Given the description of an element on the screen output the (x, y) to click on. 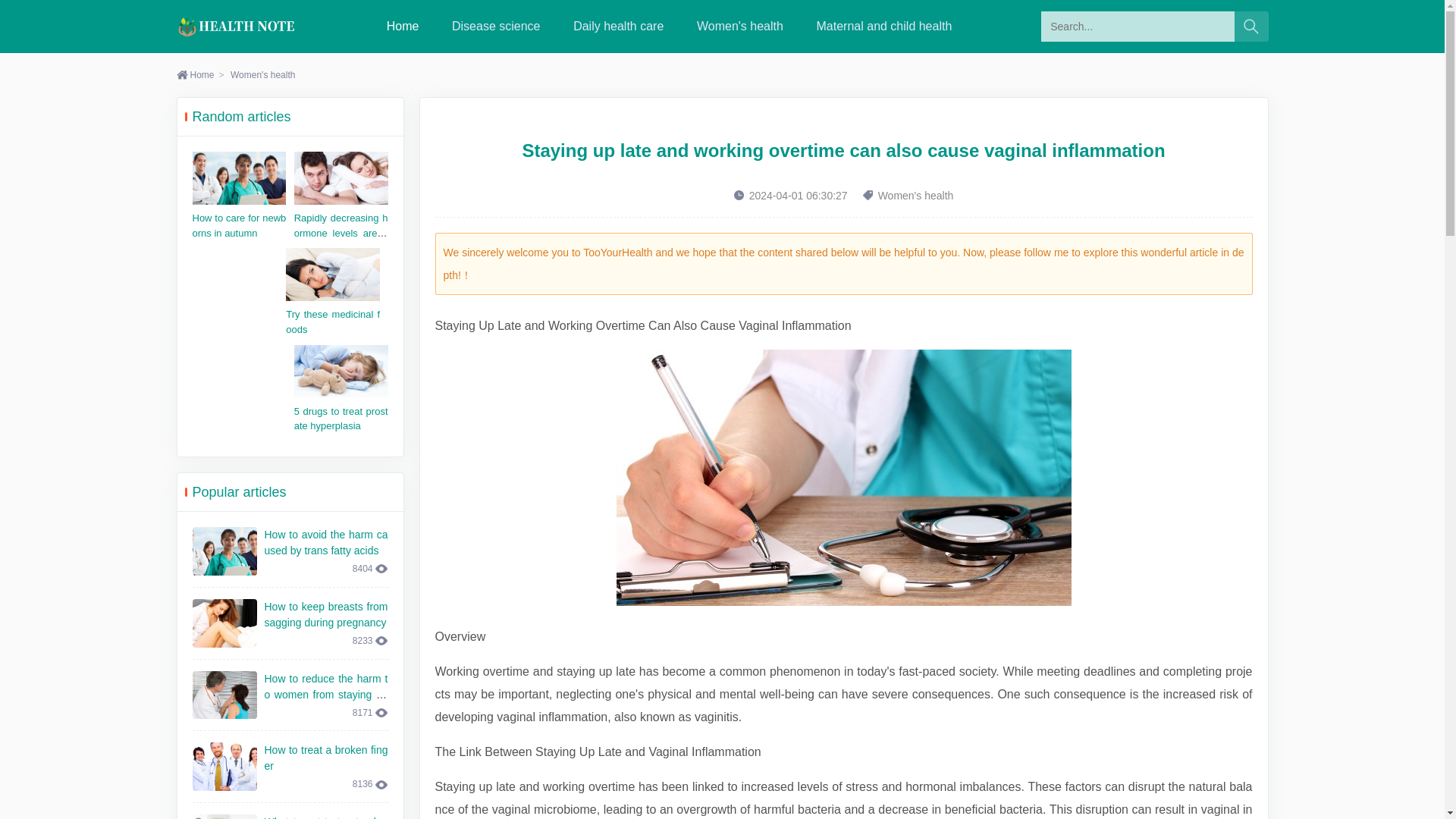
Home (403, 26)
Too-yourhealth Home (403, 26)
5 drugs to treat prostate hyperplasia (341, 418)
Too Yourhealth (236, 26)
Women's health (262, 74)
How to care for newborns in autumn (239, 225)
Disease science (495, 26)
Disease science (495, 26)
Try these medicinal foods (332, 321)
Women's health (740, 26)
Home (195, 74)
Maternal and child health (884, 26)
Too Yourhealth (236, 26)
Daily health care (618, 26)
